Given the description of an element on the screen output the (x, y) to click on. 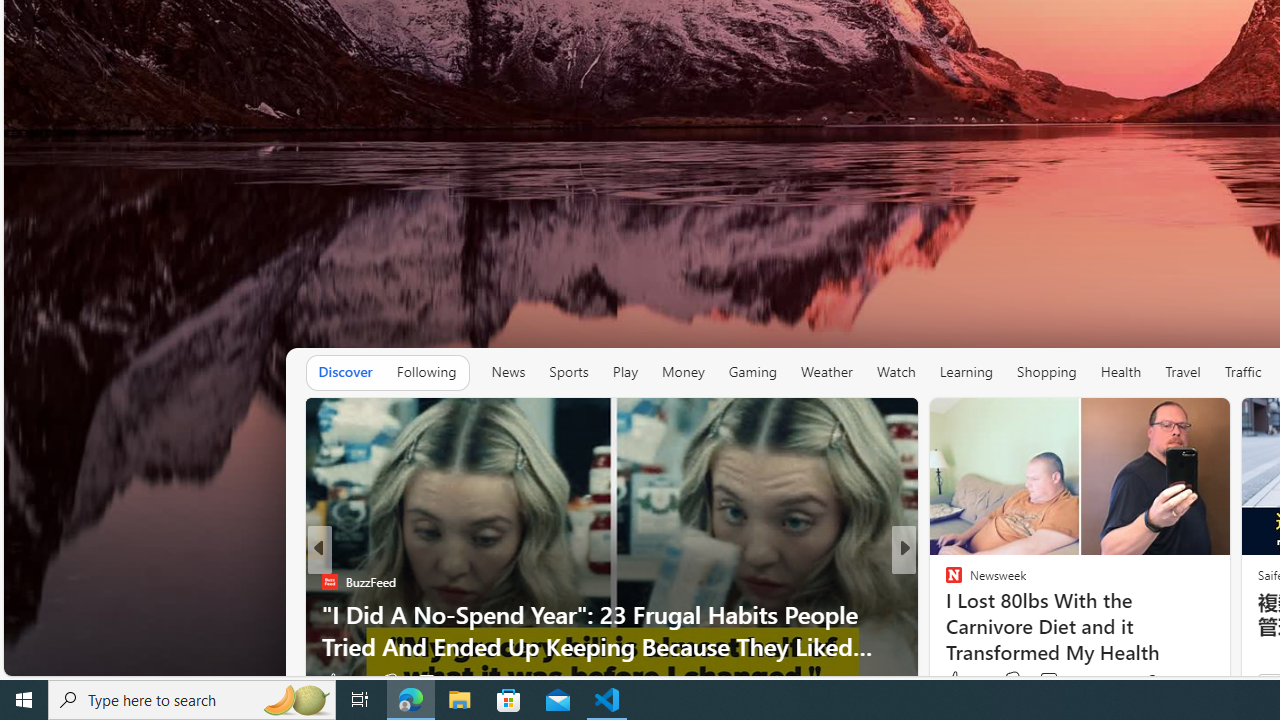
INSIDER (944, 581)
View comments 13 Comment (1042, 681)
82 Like (340, 681)
Tastes Delicious (944, 581)
194 Like (959, 681)
View comments 31 Comment (1051, 681)
6 Like (952, 681)
